Given the description of an element on the screen output the (x, y) to click on. 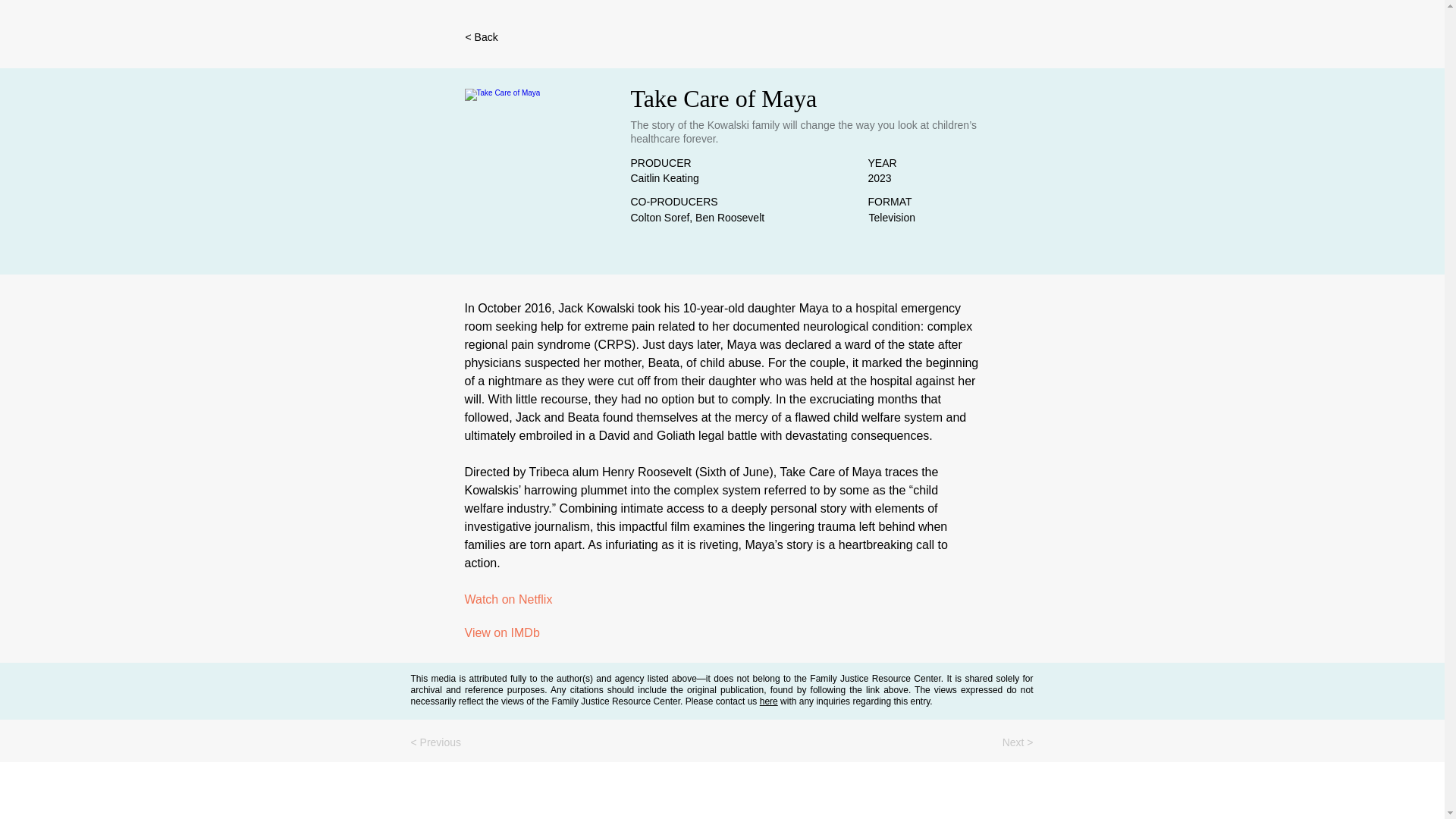
Watch on Netflix (593, 599)
here (768, 701)
Media Images.jpg (539, 164)
View on IMDb (593, 633)
